Given the description of an element on the screen output the (x, y) to click on. 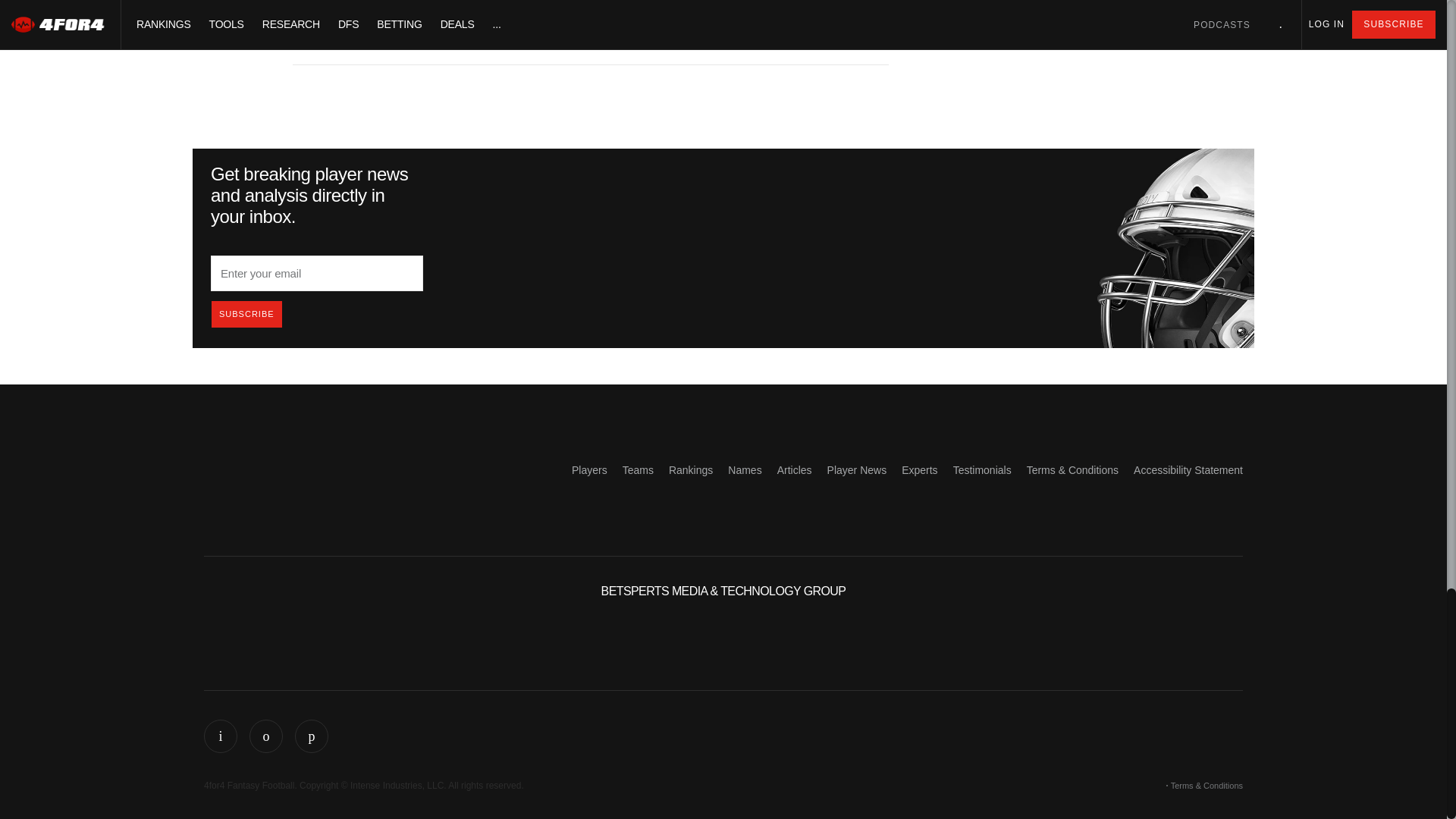
Home (258, 465)
Subscribe (246, 314)
